Given the description of an element on the screen output the (x, y) to click on. 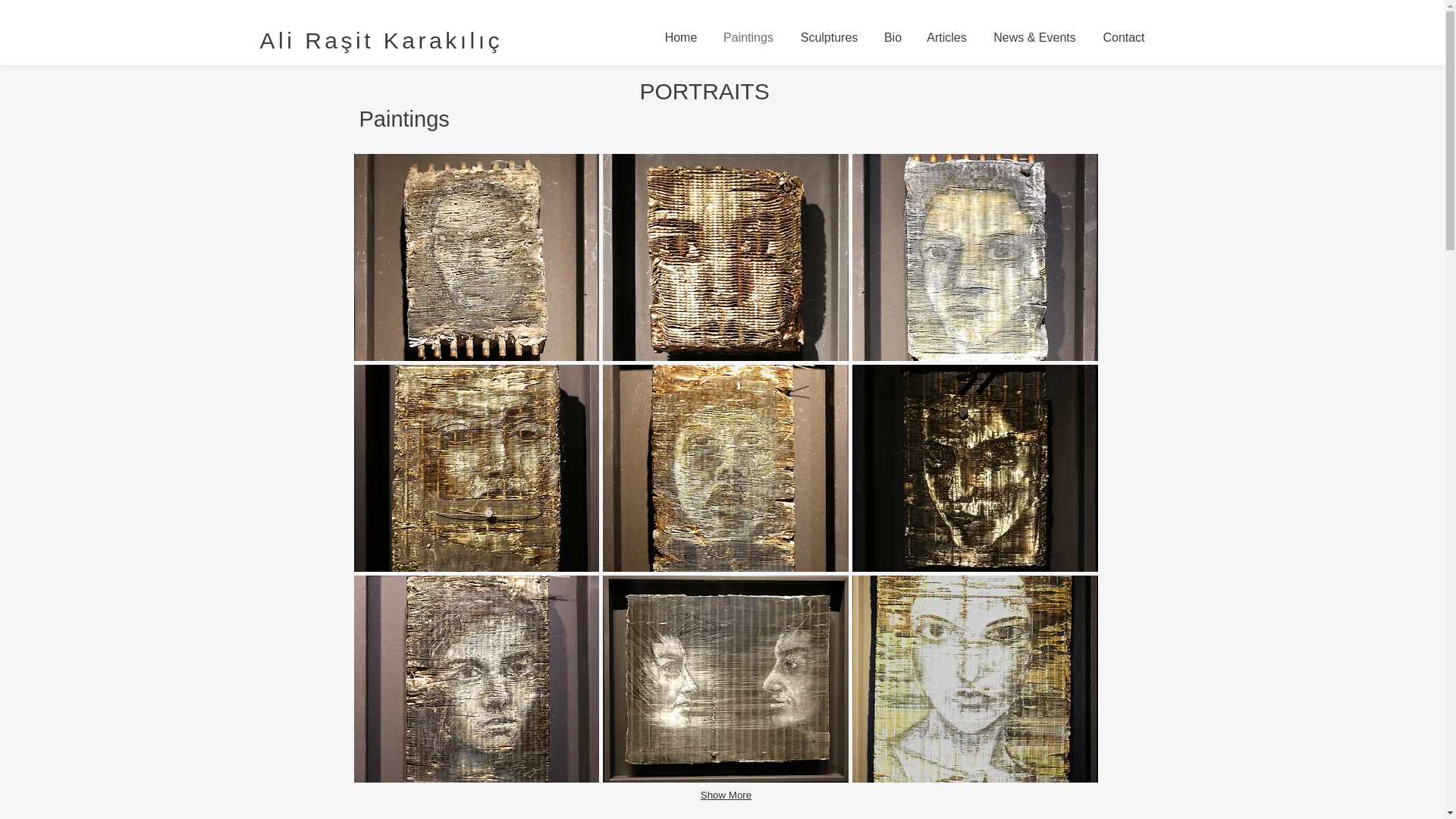
Sculptures (829, 37)
Show More (725, 795)
Home (681, 37)
Paintings (748, 37)
Contact (1123, 37)
Articles (946, 37)
Bio (893, 37)
